Given the description of an element on the screen output the (x, y) to click on. 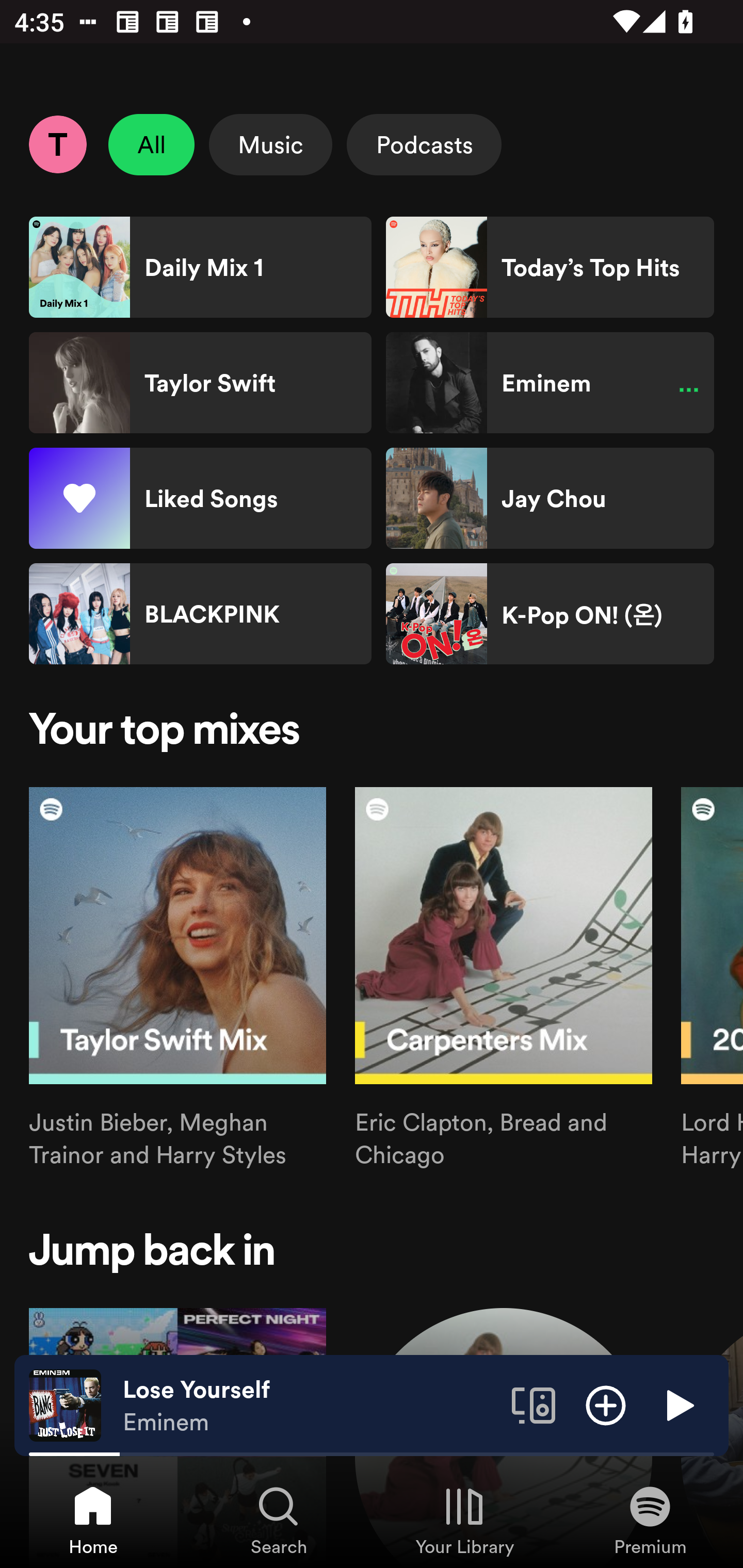
Profile (57, 144)
All Unselect All (151, 144)
Music Select Music (270, 144)
Podcasts Select Podcasts (423, 144)
Daily Mix 1 Shortcut Daily Mix 1 (199, 267)
Today’s Top Hits Shortcut Today’s Top Hits (549, 267)
Taylor Swift Shortcut Taylor Swift (199, 382)
Eminem Shortcut Eminem Paused (549, 382)
Liked Songs Shortcut Liked Songs (199, 498)
Jay Chou Shortcut Jay Chou (549, 498)
BLACKPINK Shortcut BLACKPINK (199, 613)
K-Pop ON! (온) Shortcut K-Pop ON! (온) (549, 613)
Lose Yourself Eminem (309, 1405)
The cover art of the currently playing track (64, 1404)
Connect to a device. Opens the devices menu (533, 1404)
Add item (605, 1404)
Play (677, 1404)
Home, Tab 1 of 4 Home Home (92, 1519)
Search, Tab 2 of 4 Search Search (278, 1519)
Your Library, Tab 3 of 4 Your Library Your Library (464, 1519)
Premium, Tab 4 of 4 Premium Premium (650, 1519)
